Given the description of an element on the screen output the (x, y) to click on. 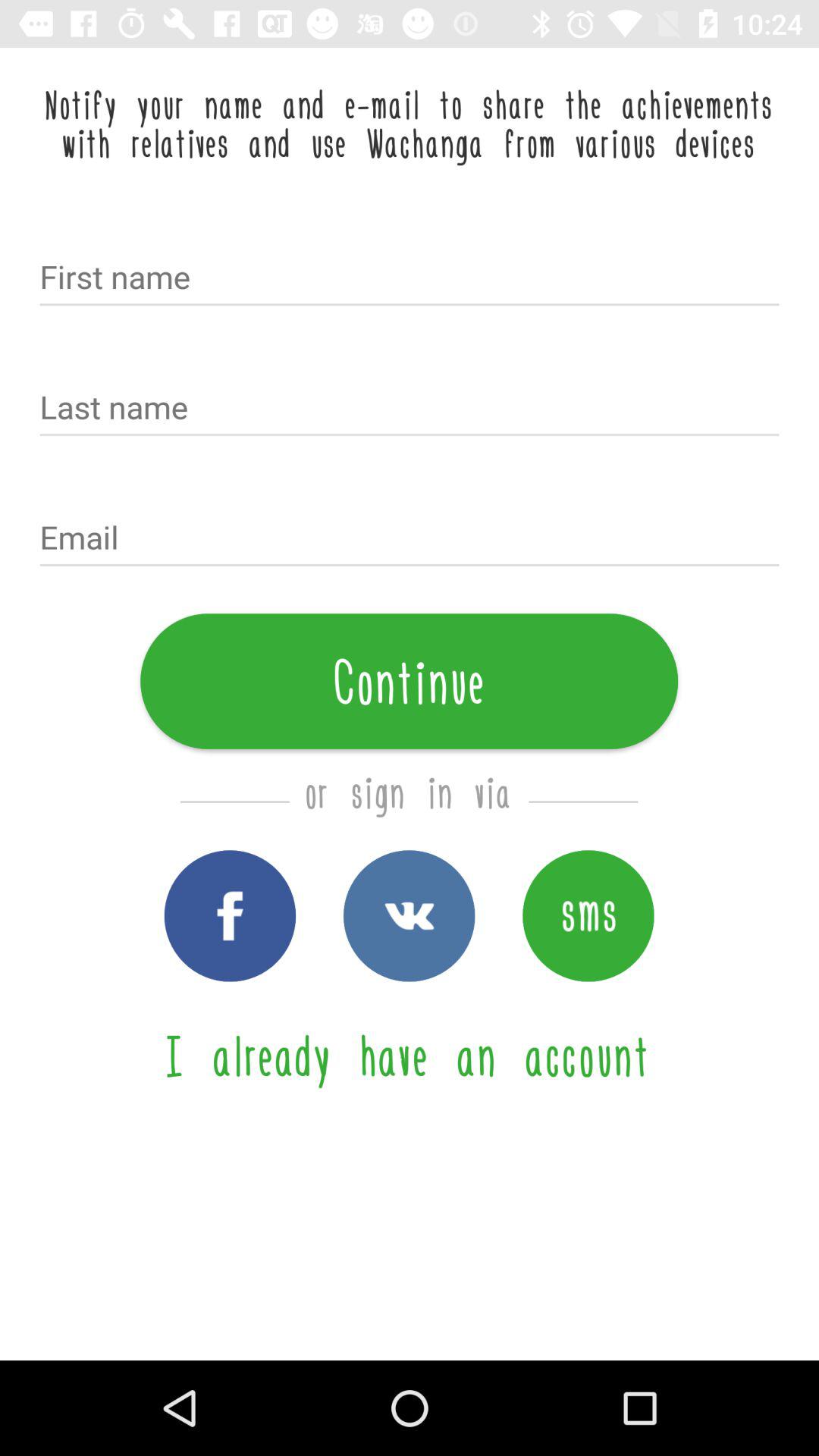
your first name (409, 278)
